Given the description of an element on the screen output the (x, y) to click on. 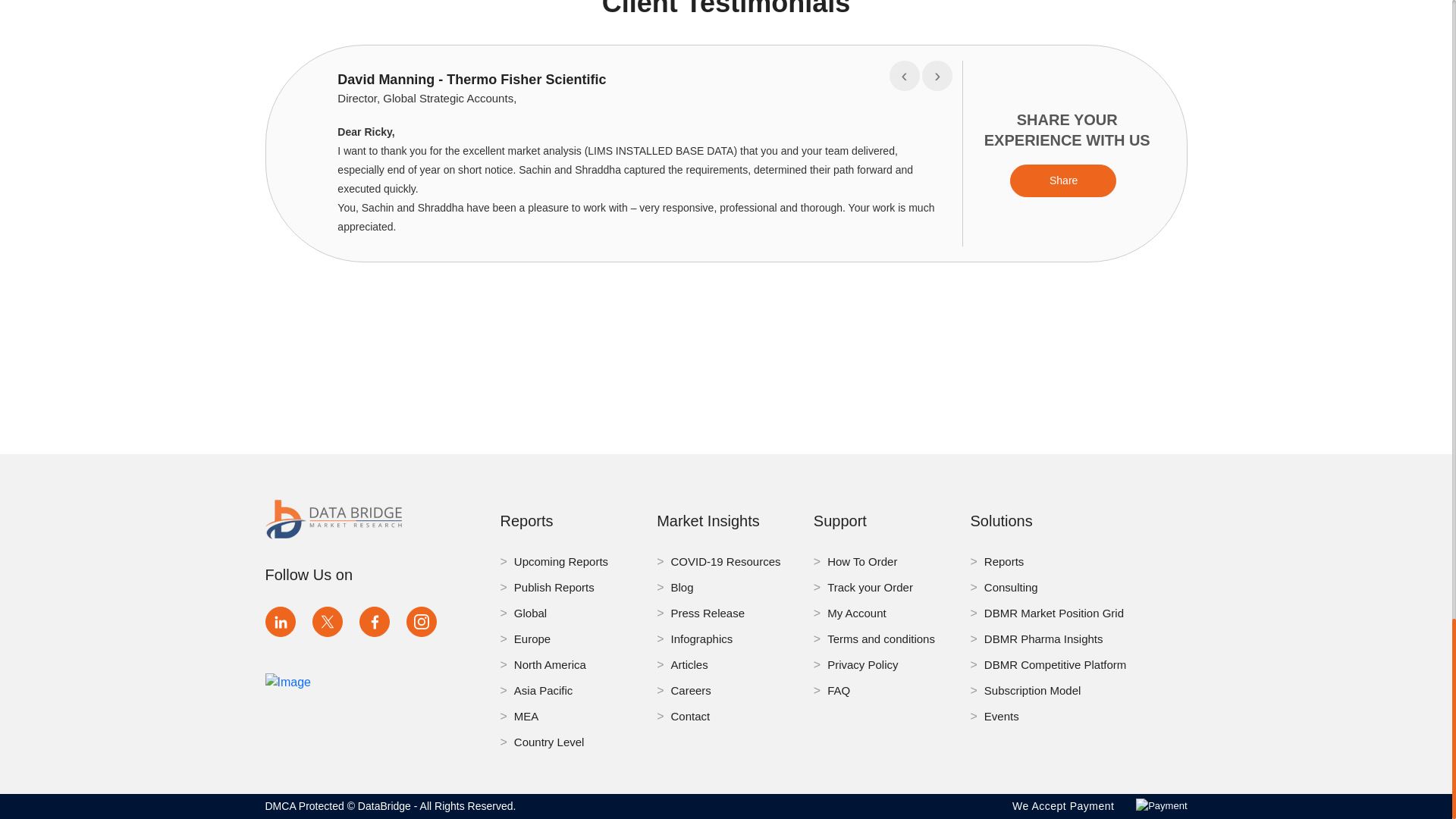
Instagram (421, 621)
LinkedIn (279, 621)
Facebook (374, 621)
Twitter (327, 621)
